Given the description of an element on the screen output the (x, y) to click on. 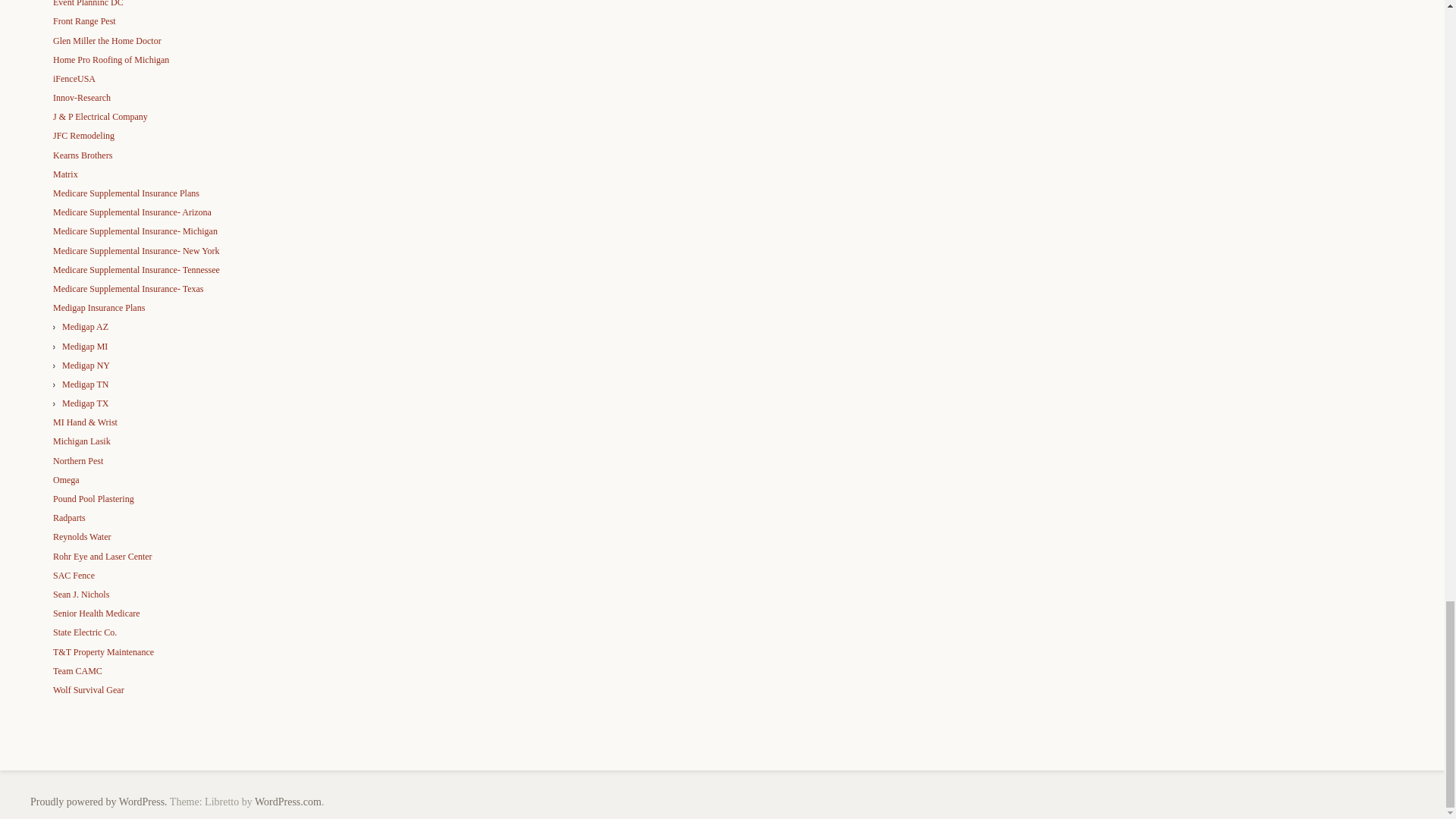
Home Pro Roofing of Michigan (110, 59)
Event Planninc DC (87, 3)
Front Range Pest (84, 20)
iFenceUSA (74, 78)
Glen Miller the Home Doctor (106, 40)
